Given the description of an element on the screen output the (x, y) to click on. 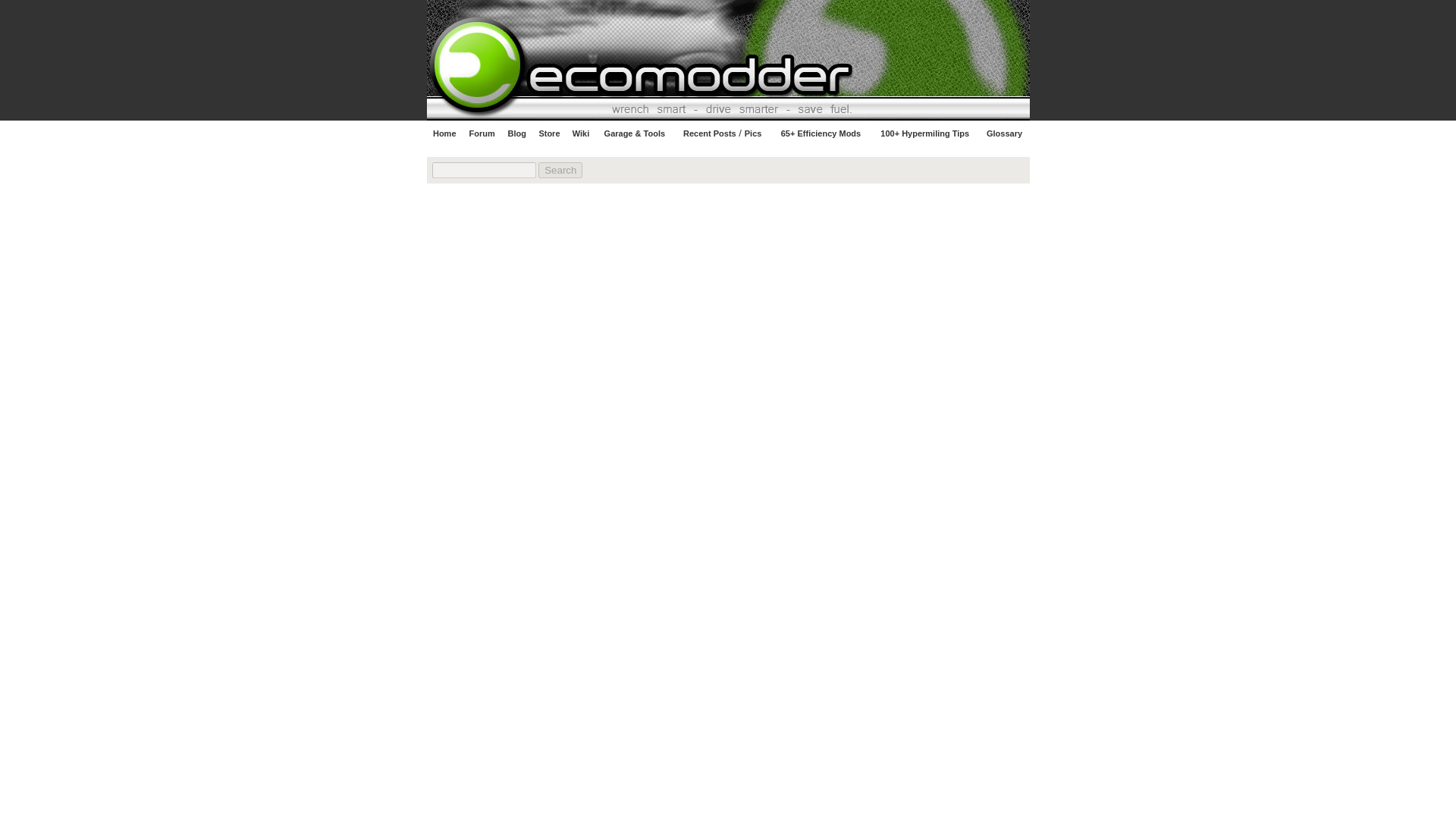
Pics (752, 133)
Wiki (580, 133)
Blog (516, 133)
Recent Posts (709, 133)
Search (560, 170)
Garage (619, 133)
Glossary (1004, 133)
Store (548, 133)
EcoModder home (915, 60)
Forum (481, 133)
